Given the description of an element on the screen output the (x, y) to click on. 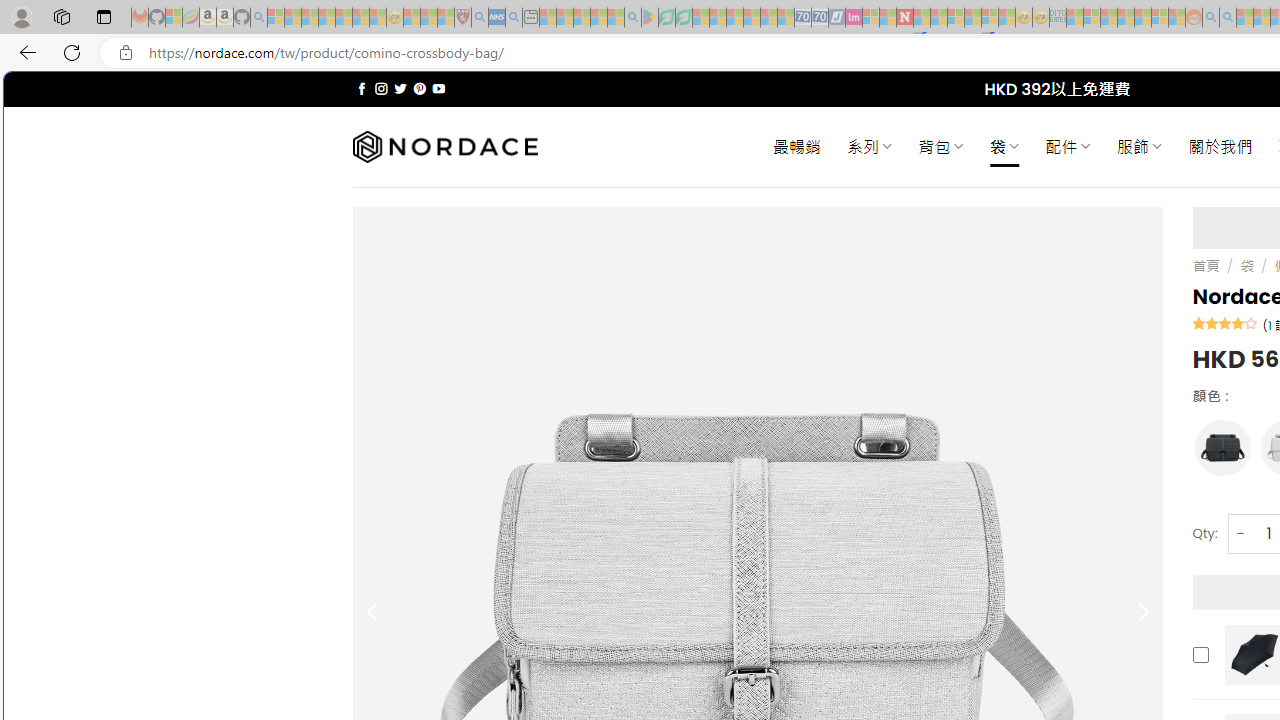
Follow on Facebook (361, 88)
